Given the description of an element on the screen output the (x, y) to click on. 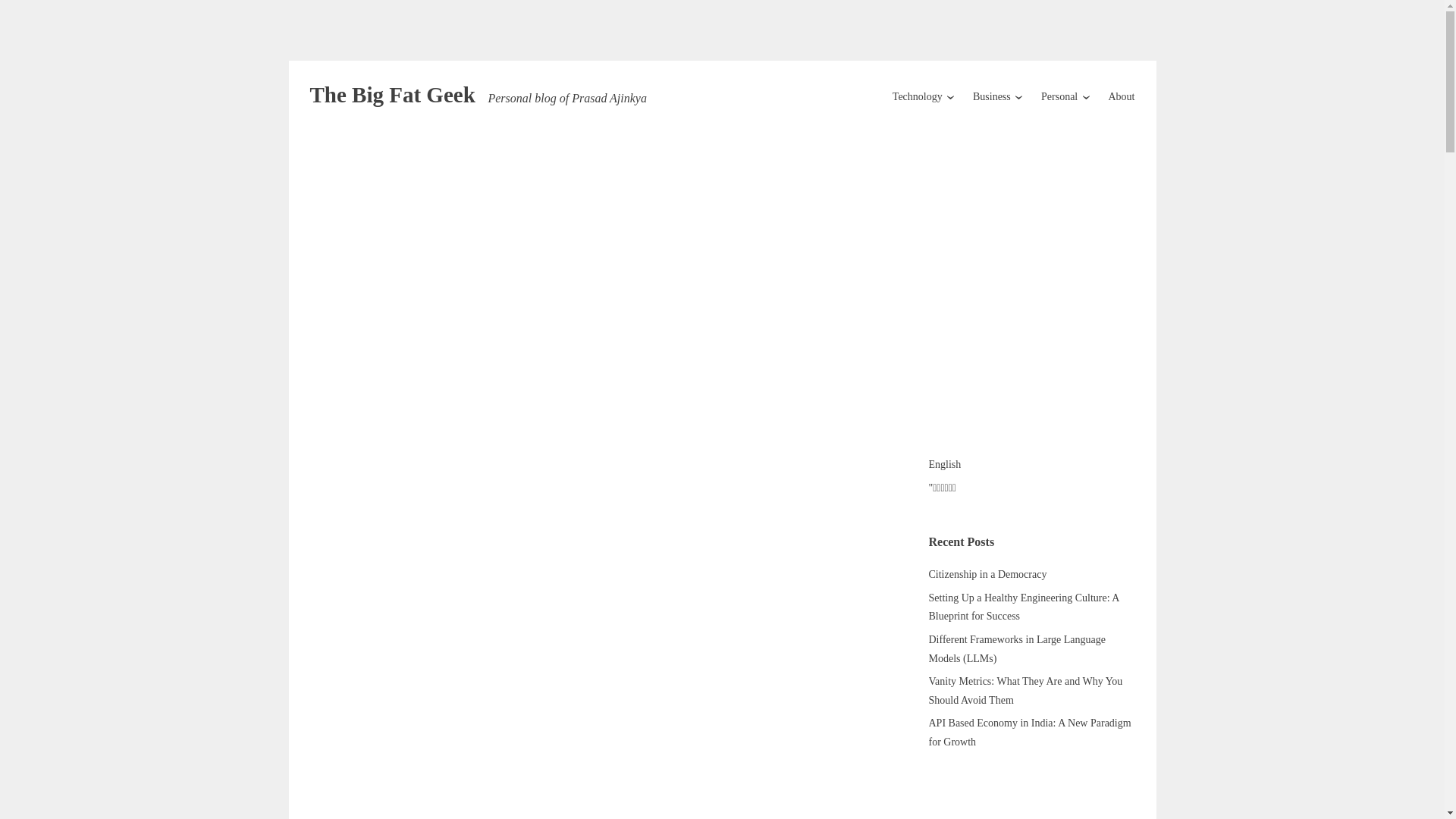
About (1121, 96)
Business (991, 96)
The Big Fat Geek (391, 94)
Personal (1059, 96)
Technology (917, 96)
